Given the description of an element on the screen output the (x, y) to click on. 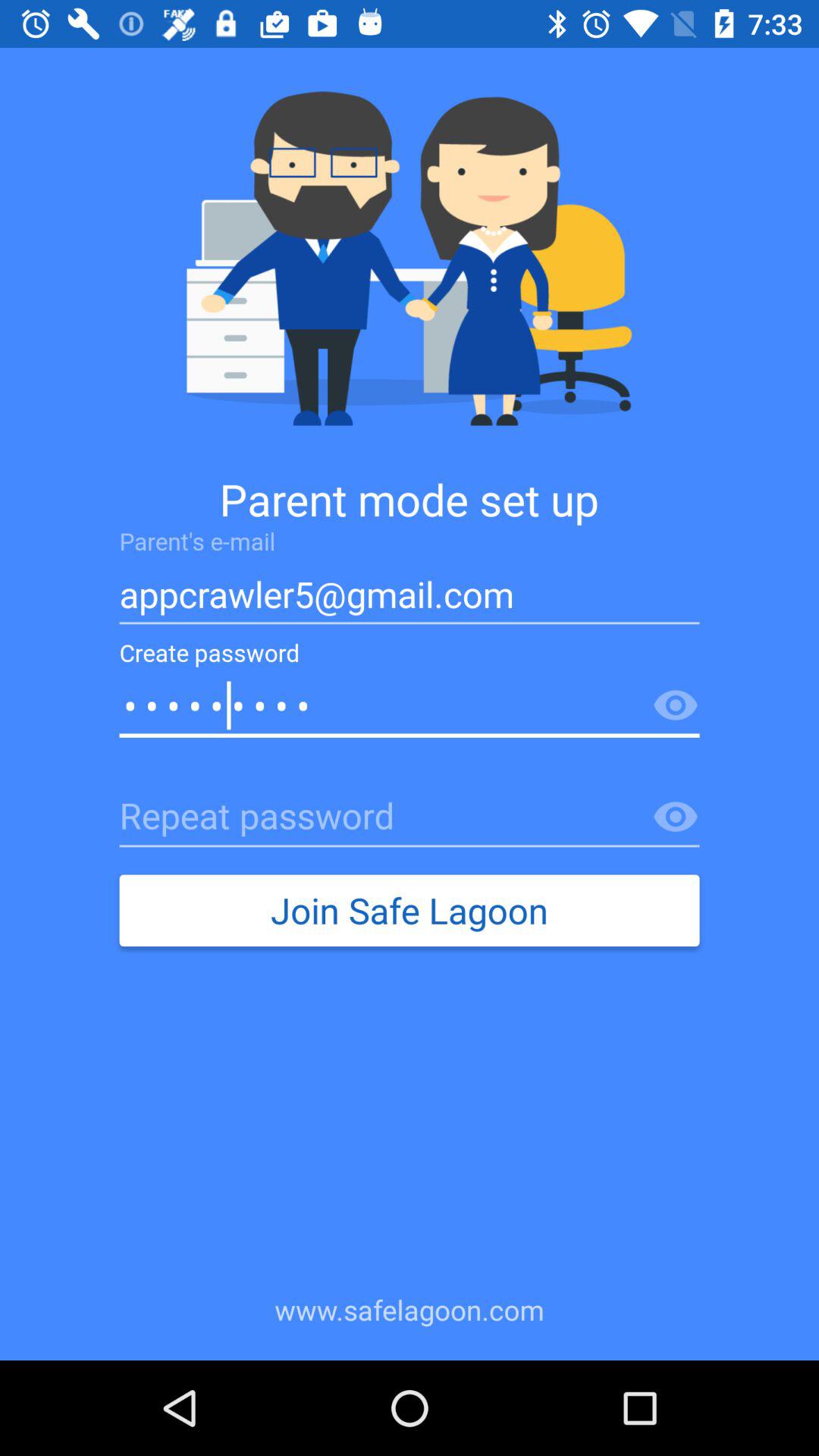
show password (675, 817)
